Given the description of an element on the screen output the (x, y) to click on. 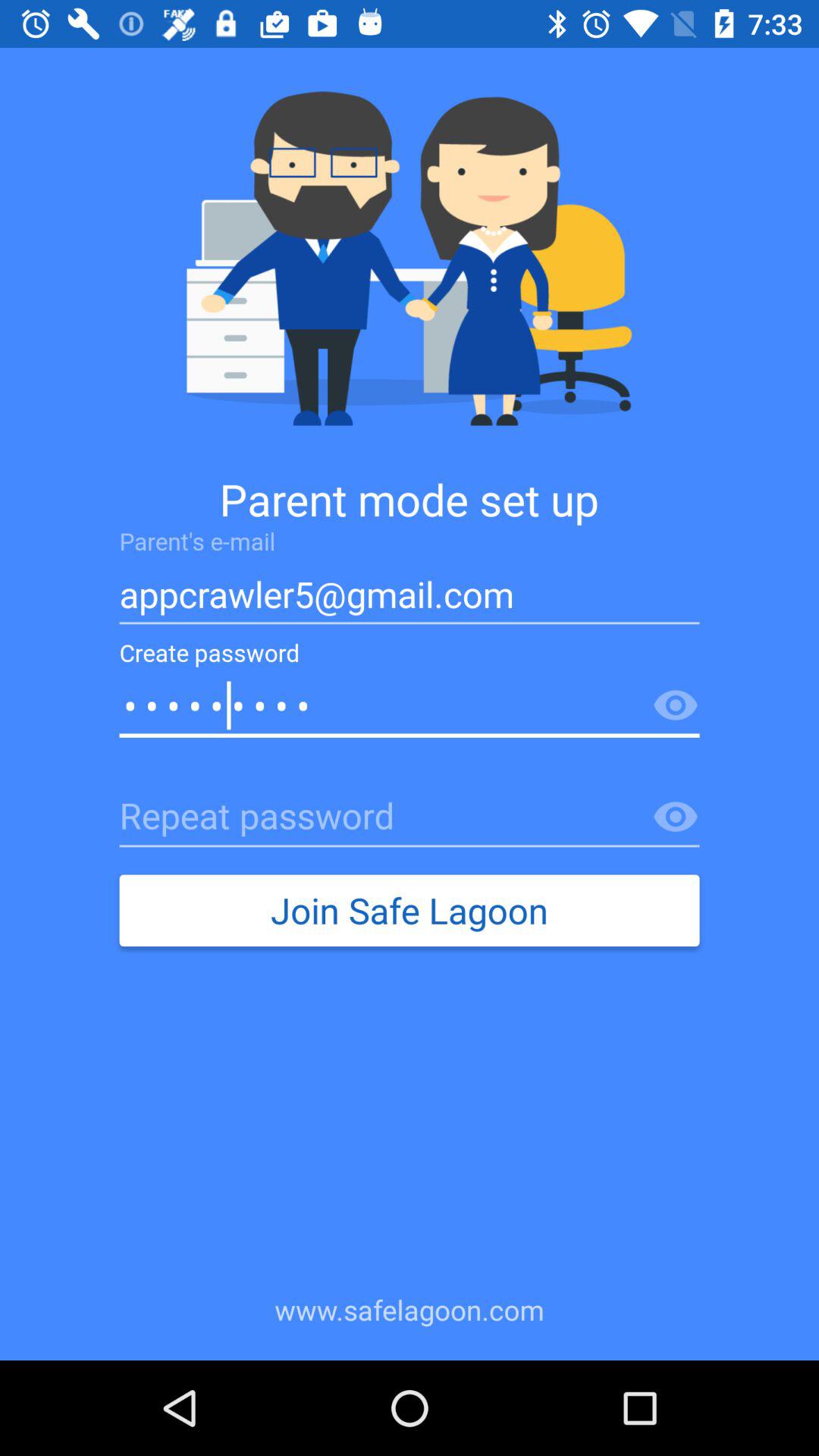
show password (675, 817)
